Given the description of an element on the screen output the (x, y) to click on. 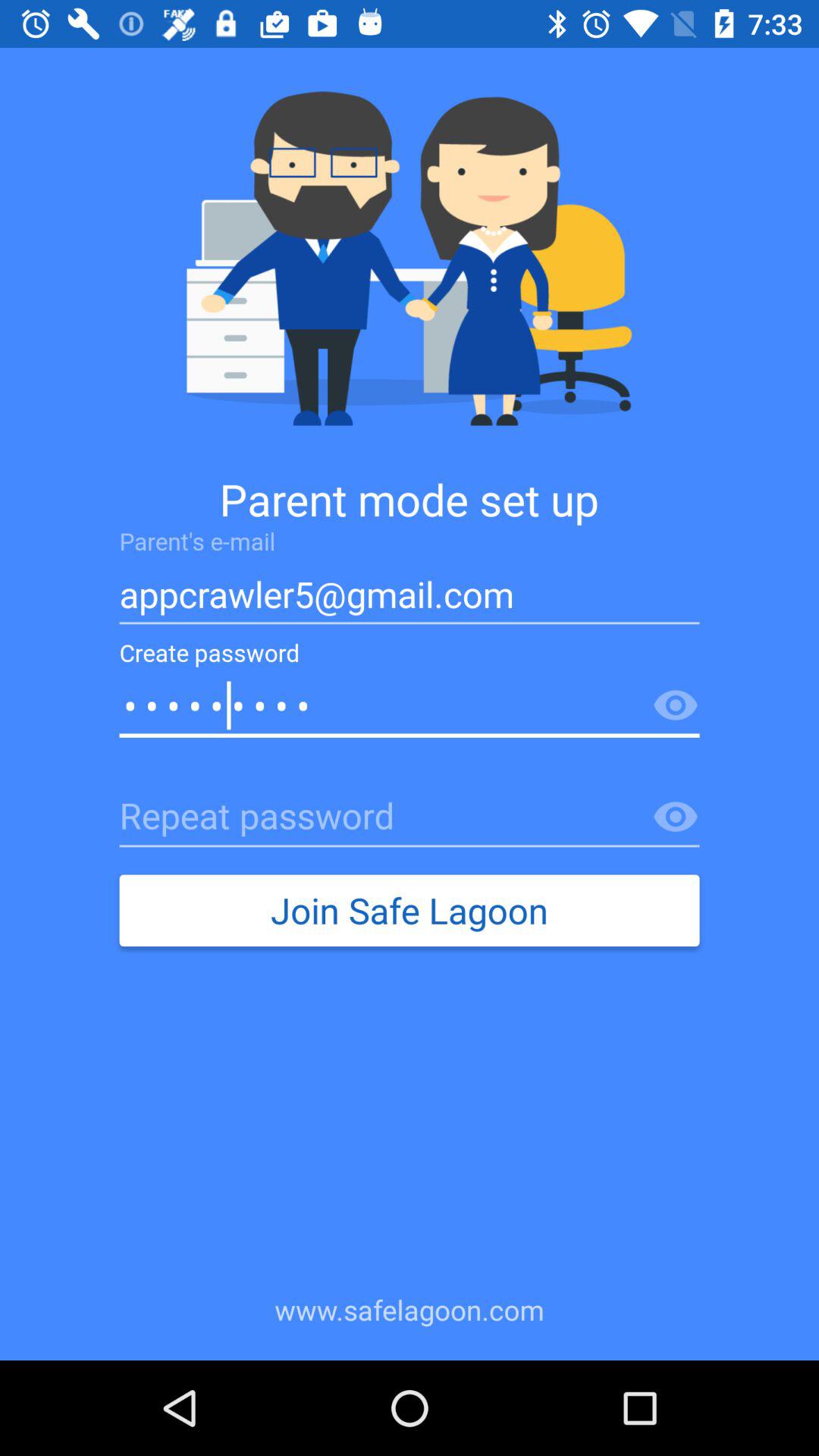
show password (675, 817)
